Given the description of an element on the screen output the (x, y) to click on. 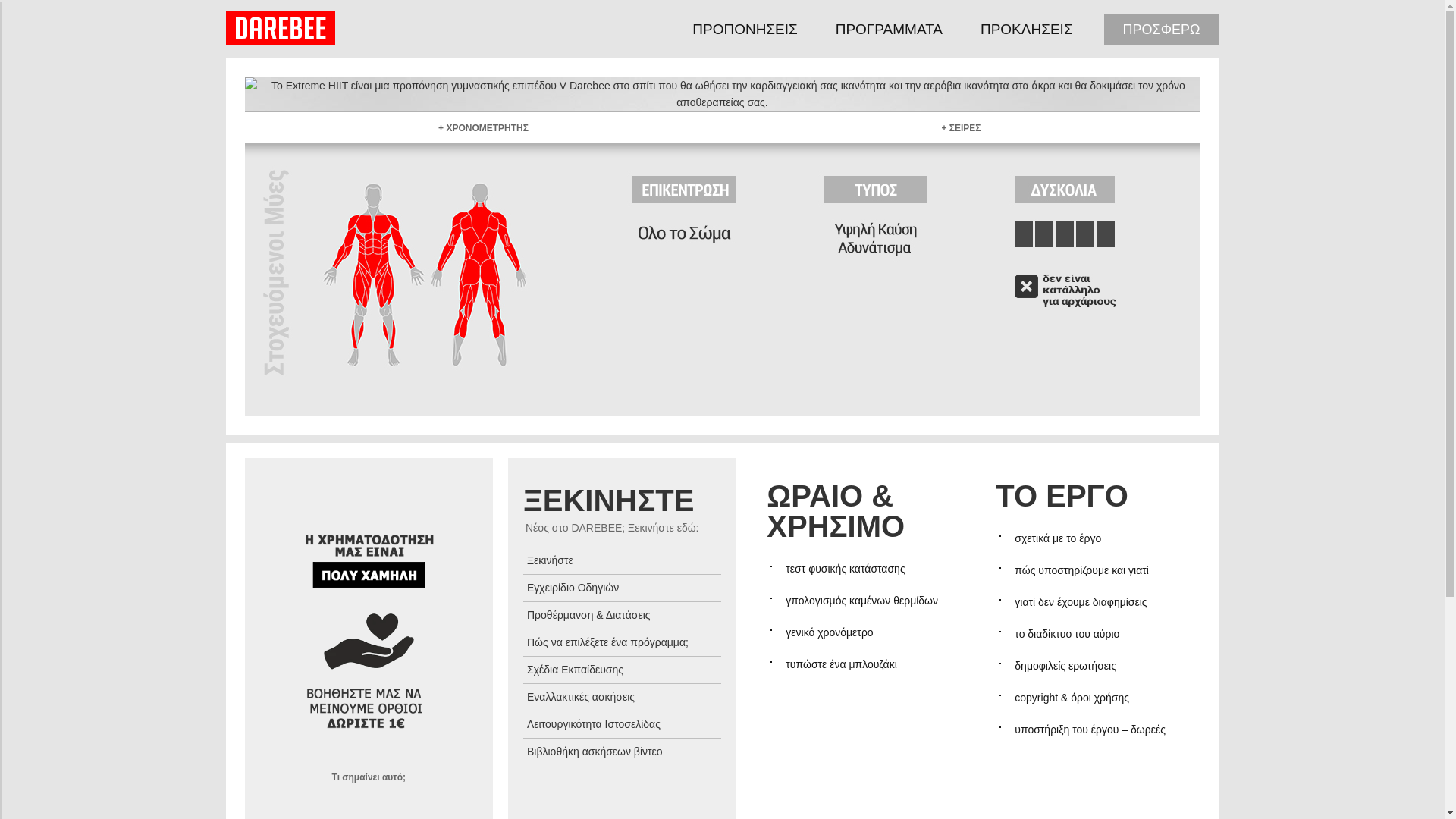
DAREBEE (279, 27)
DAREBEE funding explained (368, 777)
Support DAREBEE (368, 609)
